Given the description of an element on the screen output the (x, y) to click on. 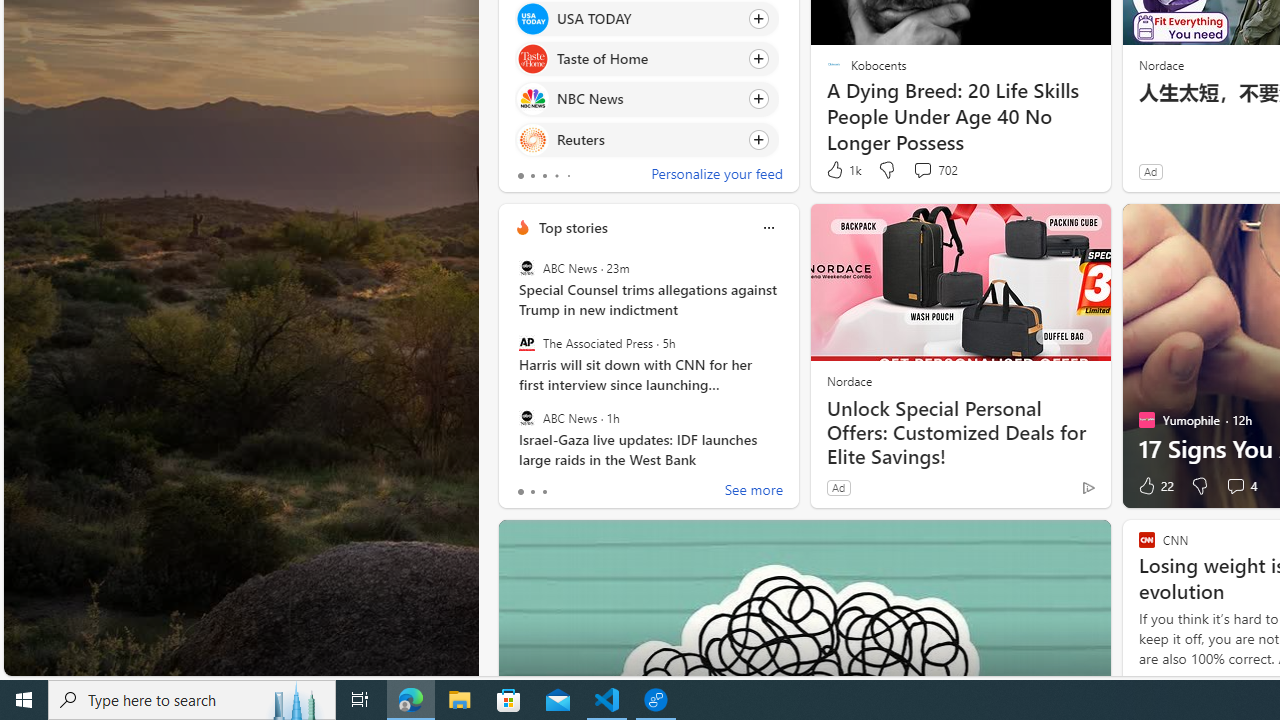
tab-4 (567, 175)
The Associated Press (526, 343)
